Given the description of an element on the screen output the (x, y) to click on. 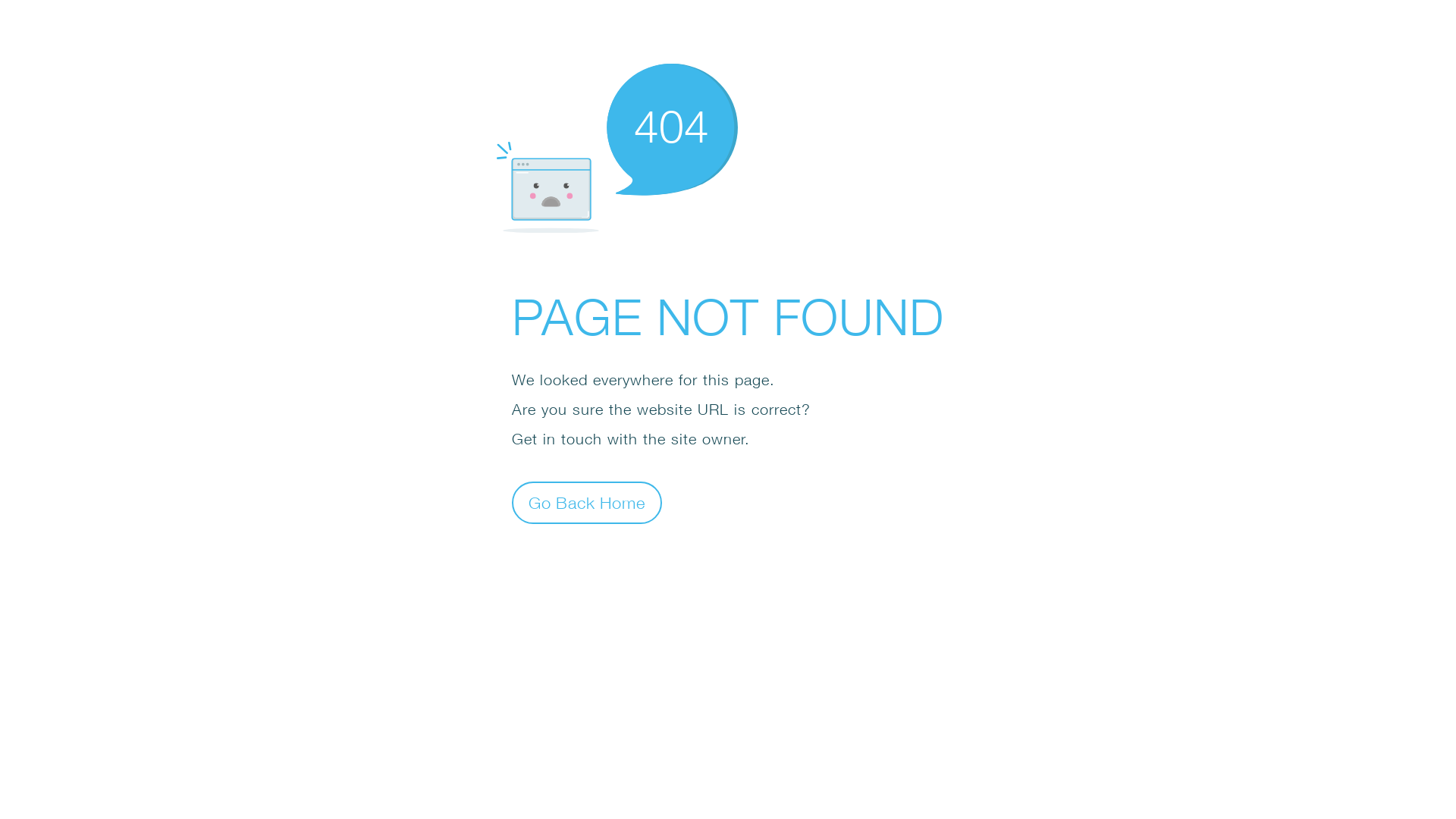
Go Back Home Element type: text (586, 502)
